Given the description of an element on the screen output the (x, y) to click on. 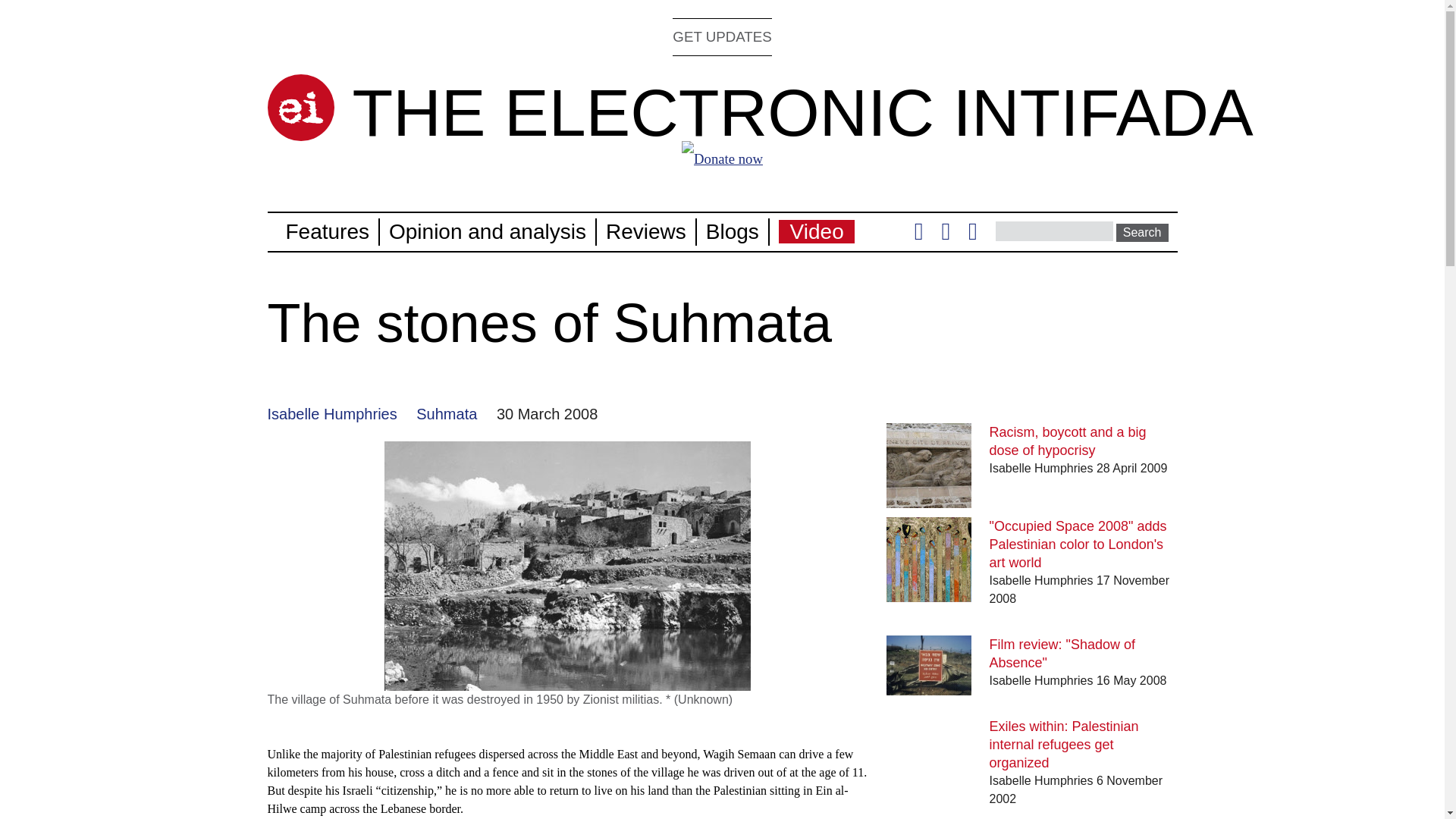
Features (327, 231)
Search (1142, 232)
THE ELECTRONIC INTIFADA (802, 112)
Video (817, 231)
GET UPDATES (721, 37)
Opinion and analysis (487, 231)
Home (802, 112)
Search (1142, 232)
Home (299, 107)
